Given the description of an element on the screen output the (x, y) to click on. 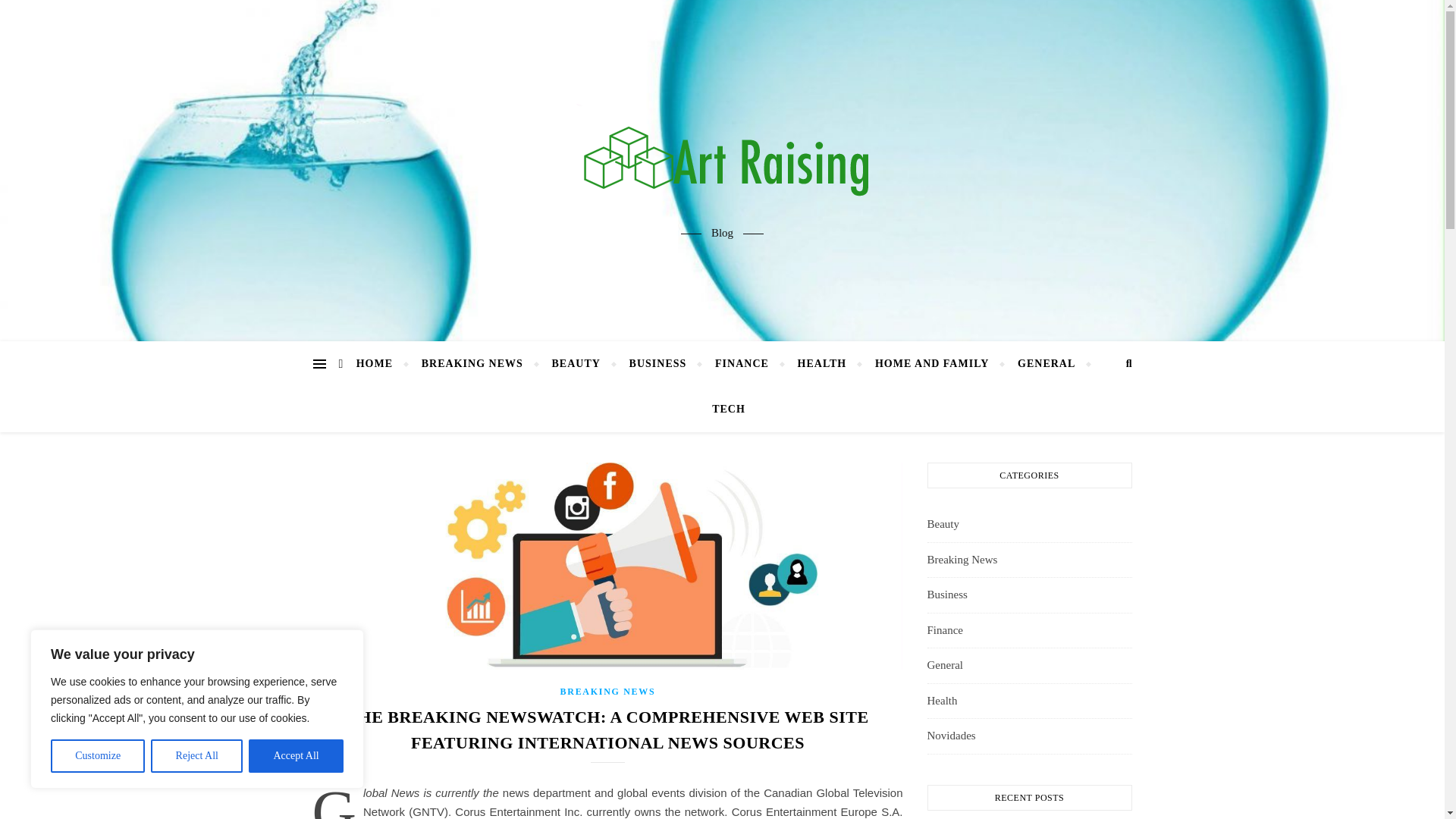
BREAKING NEWS (608, 691)
Customize (97, 756)
Art Raising (721, 157)
BUSINESS (657, 363)
Reject All (197, 756)
GENERAL (1045, 363)
FINANCE (741, 363)
HOME (381, 363)
BEAUTY (575, 363)
HEALTH (822, 363)
TECH (721, 409)
HOME AND FAMILY (931, 363)
BREAKING NEWS (472, 363)
Accept All (295, 756)
